Given the description of an element on the screen output the (x, y) to click on. 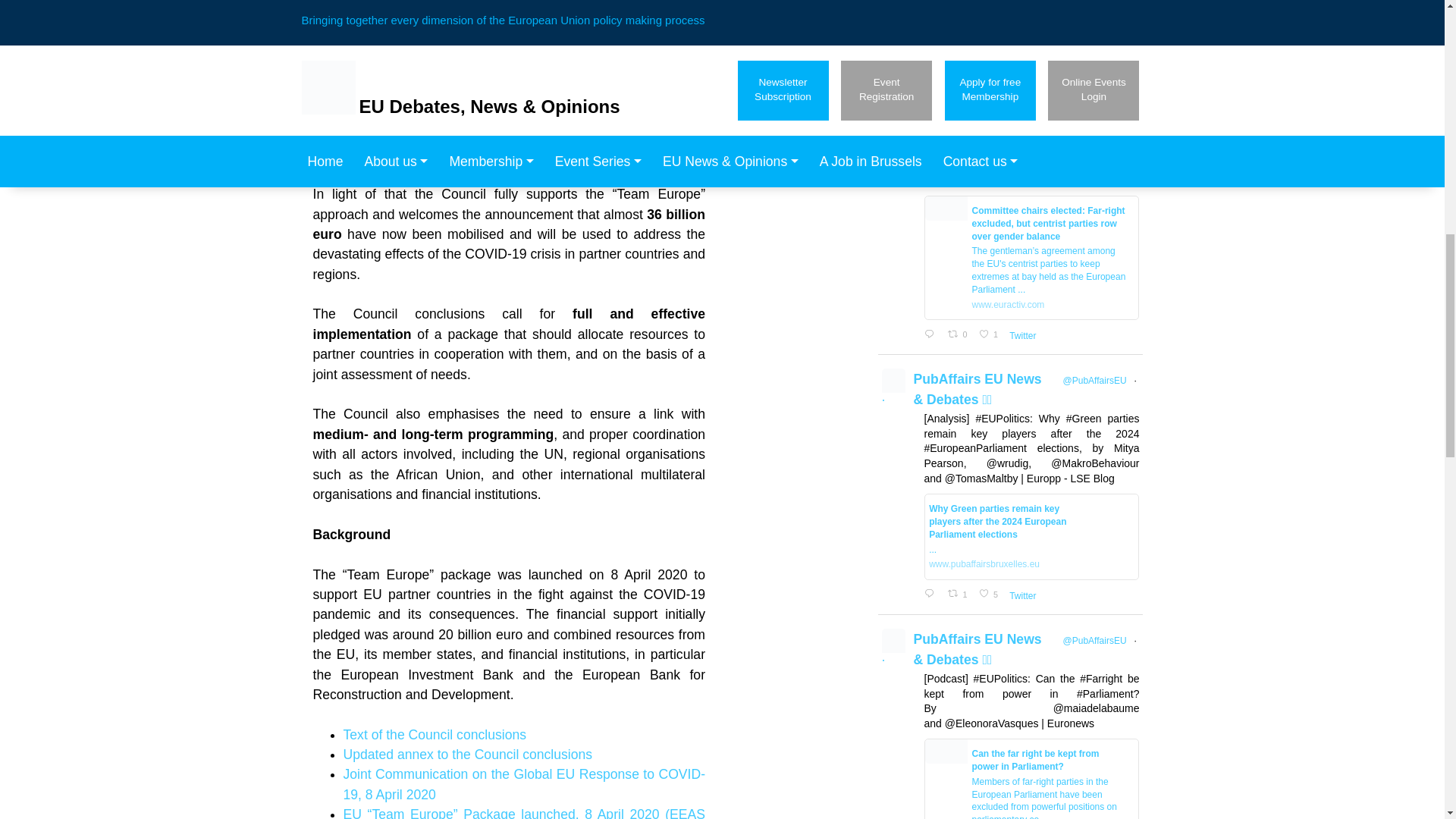
PDF document - Text of the Council conclusions (433, 734)
PDF document - Updated annex to the Council conclusions (467, 754)
